Given the description of an element on the screen output the (x, y) to click on. 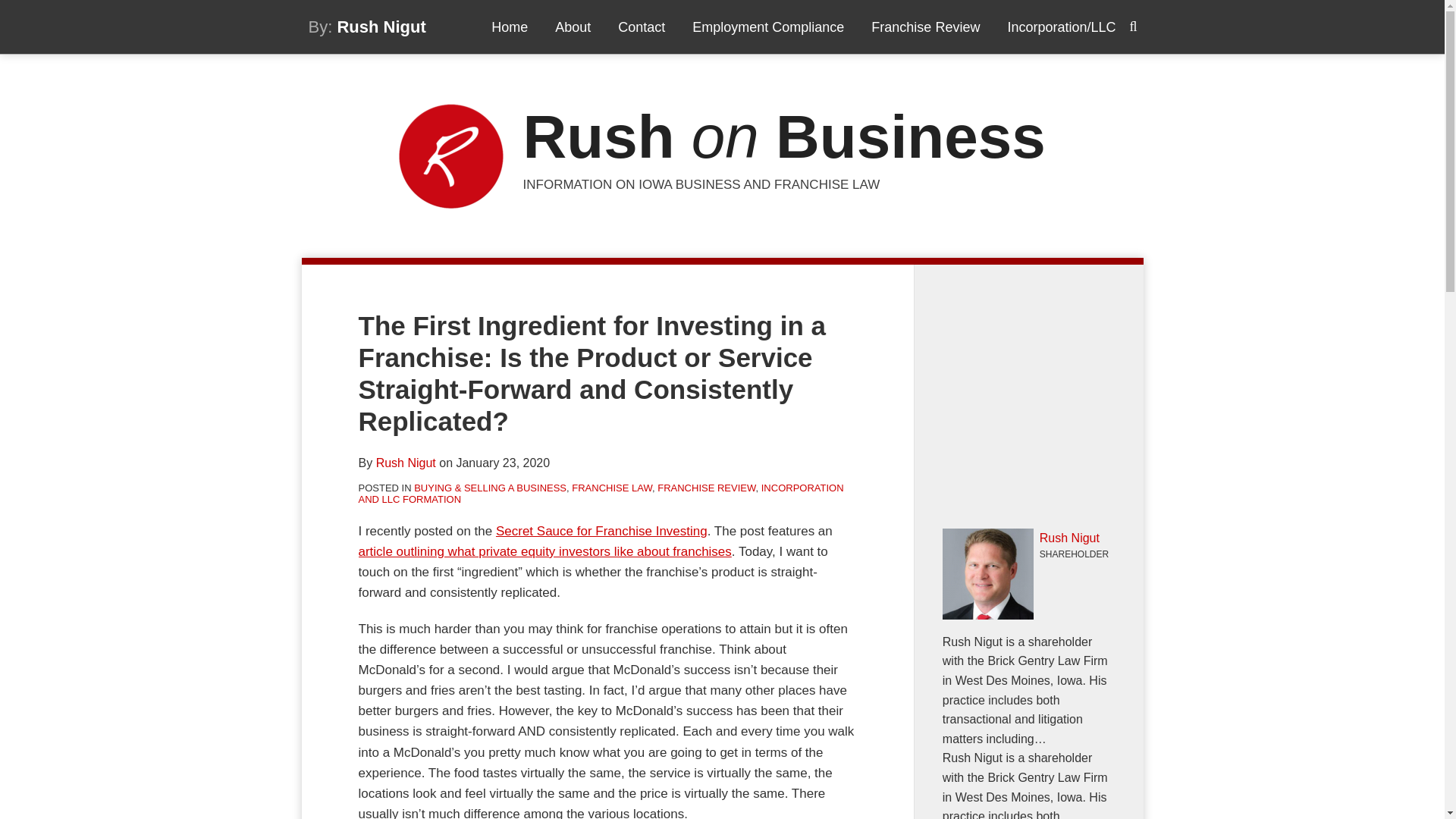
Rush Nigut (405, 462)
INCORPORATION AND LLC FORMATION (600, 494)
Employment Compliance (768, 27)
Rush on Business (783, 136)
About (572, 27)
Rush Nigut (380, 26)
Contact (641, 27)
Home (509, 27)
FRANCHISE REVIEW (706, 487)
